Given the description of an element on the screen output the (x, y) to click on. 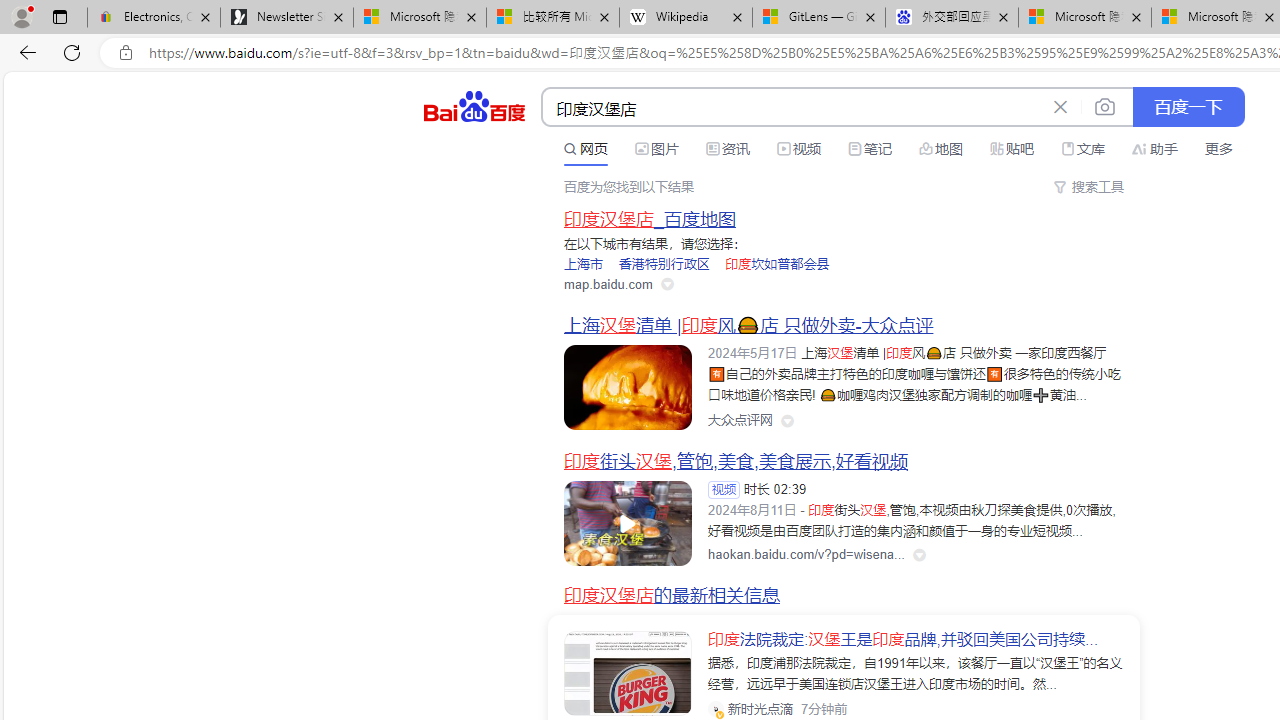
Class: c-img c-img-radius-large (628, 673)
Newsletter Sign Up (287, 17)
Class: siteLink_9TPP3 (740, 421)
Wikipedia (685, 17)
AutomationID: kw (793, 107)
